Given the description of an element on the screen output the (x, y) to click on. 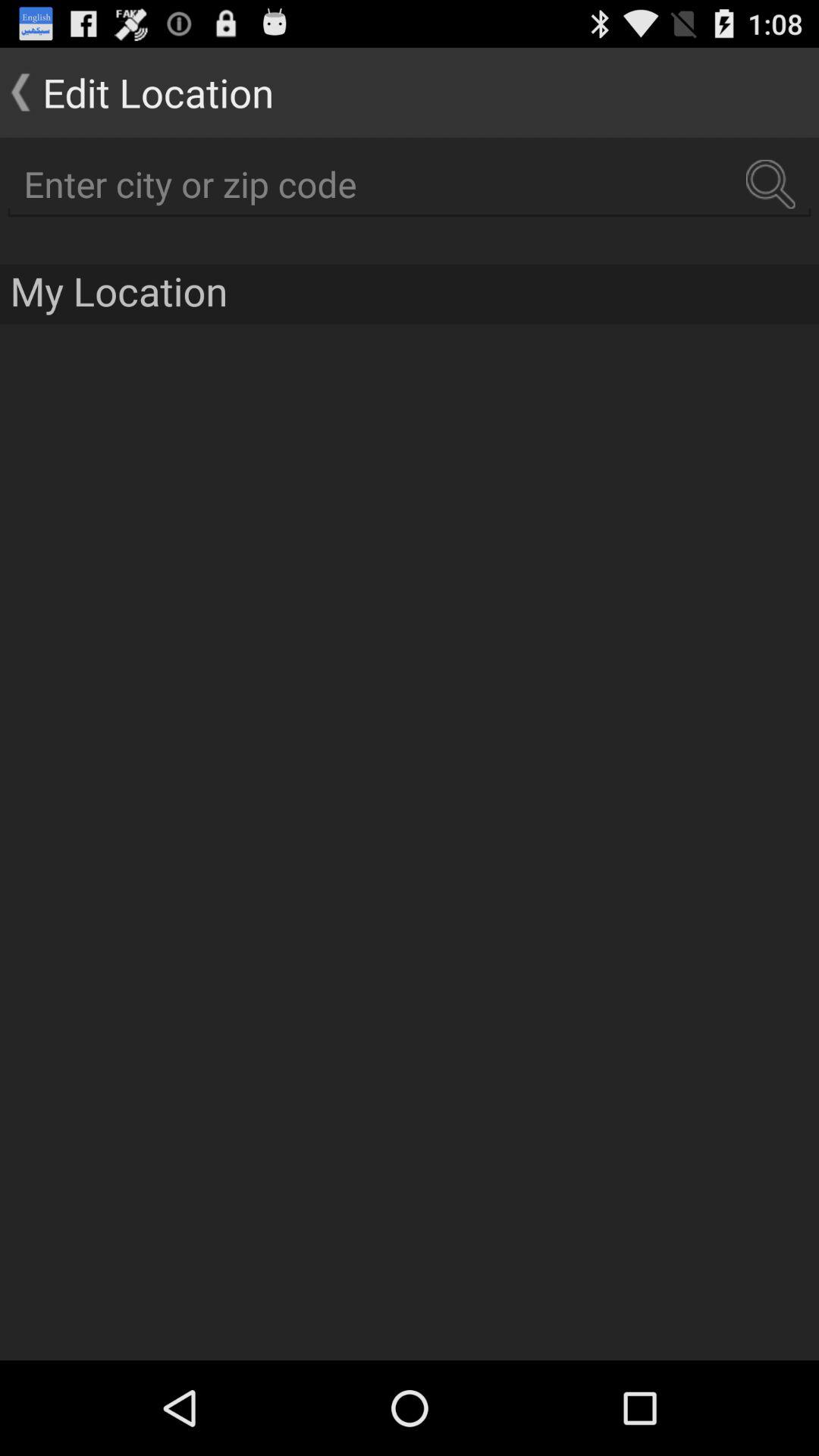
open button at the top left corner (137, 91)
